Given the description of an element on the screen output the (x, y) to click on. 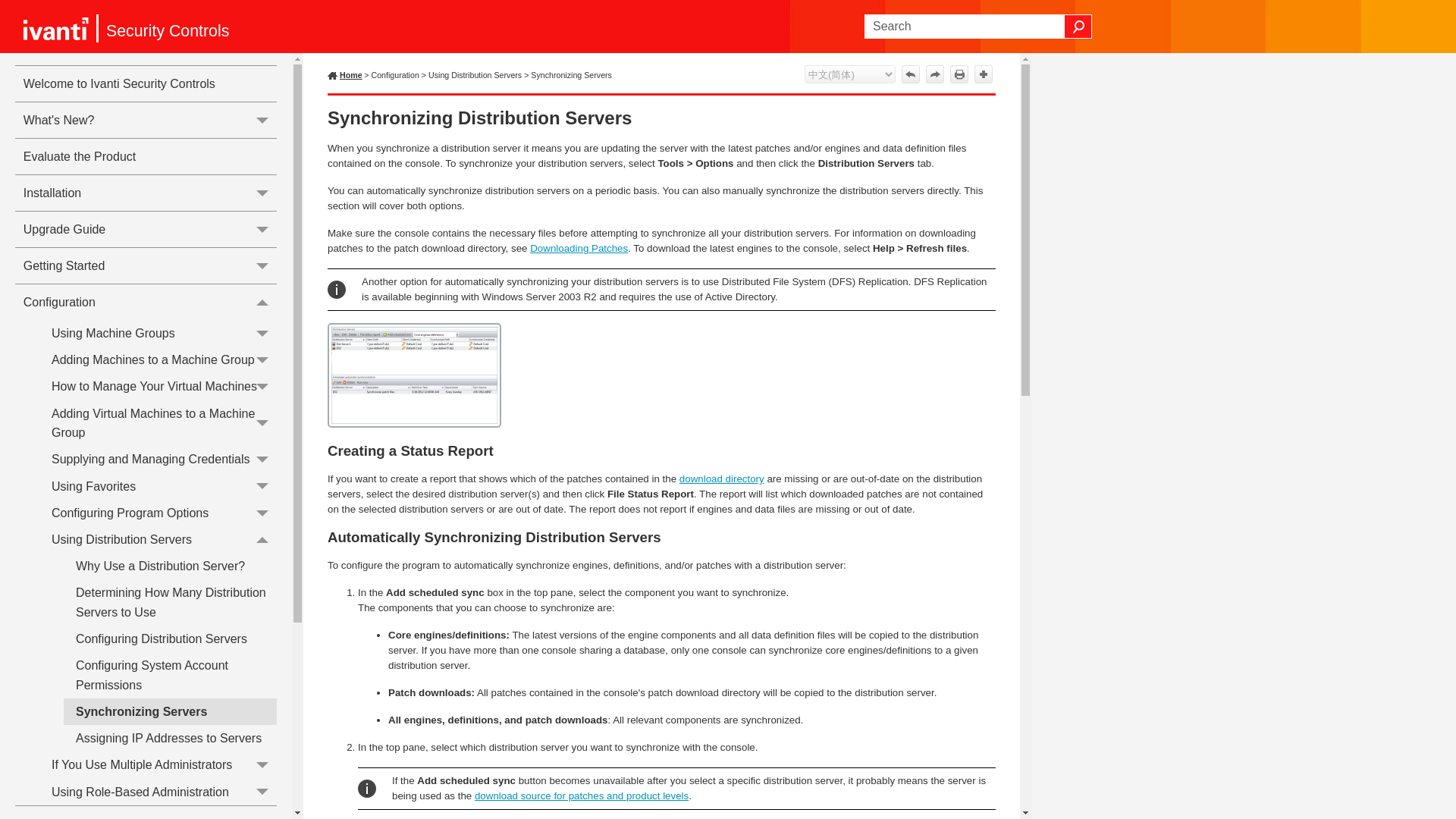
Navigate previous (910, 74)
Search (1078, 26)
Print (959, 74)
Navigate next (934, 74)
Expand all (983, 74)
